Given the description of an element on the screen output the (x, y) to click on. 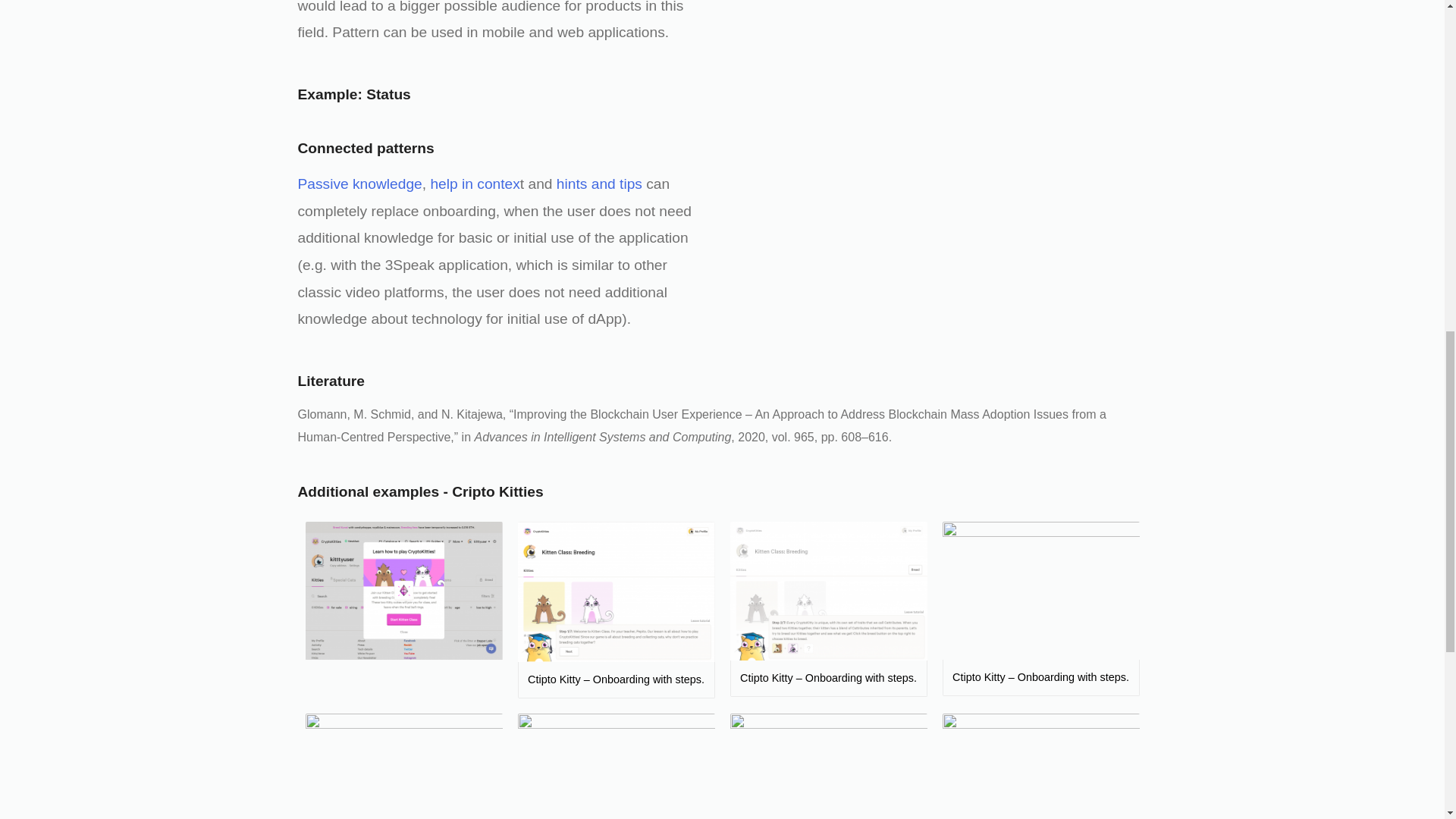
help in contex (474, 183)
hints and tips (599, 183)
Connected patterns (365, 148)
Additional examples - Cripto Kitties (420, 491)
Example: Status (353, 94)
Passive knowledge (359, 183)
